Given the description of an element on the screen output the (x, y) to click on. 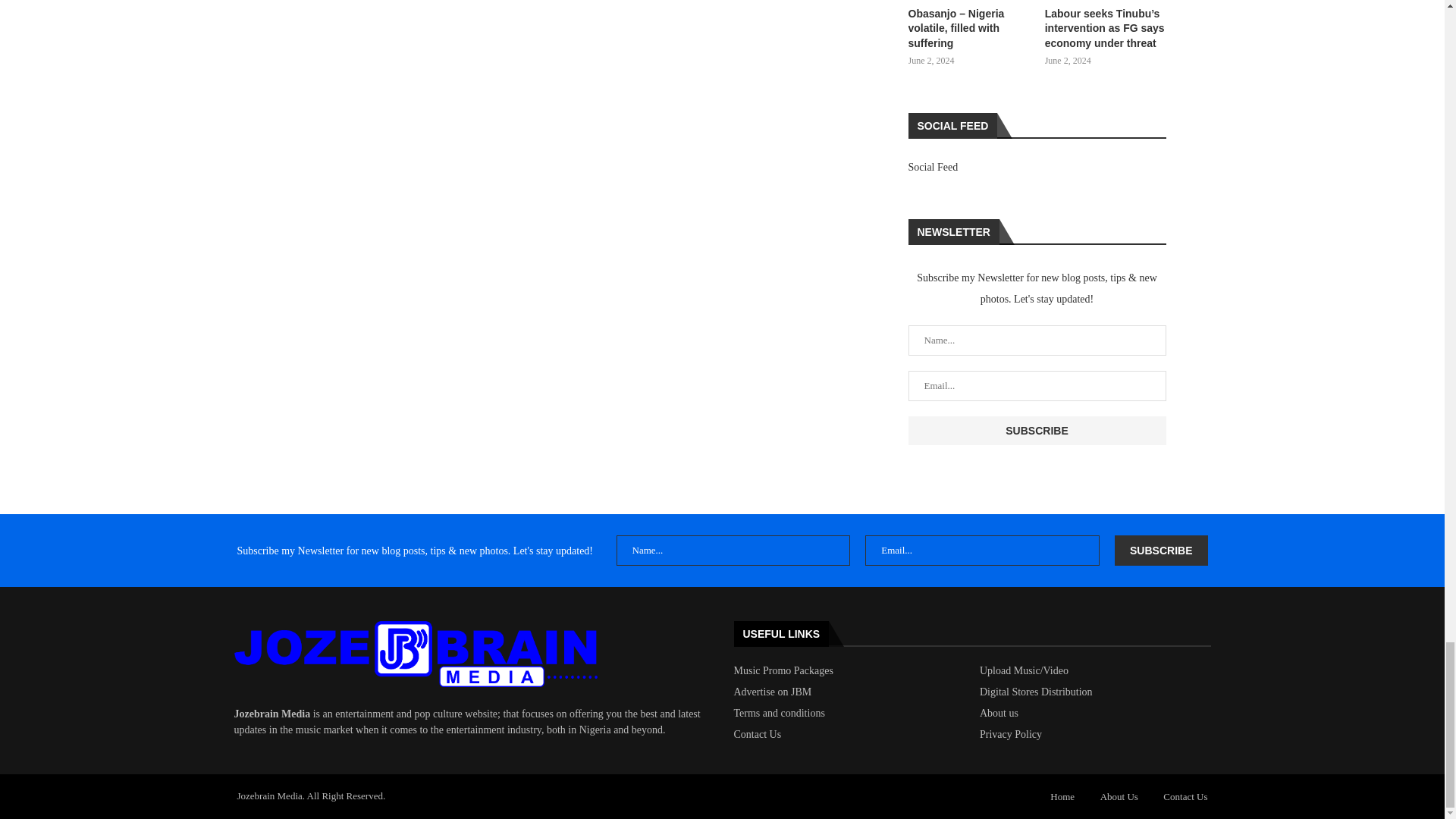
Subscribe (1161, 550)
Subscribe (1037, 430)
